Given the description of an element on the screen output the (x, y) to click on. 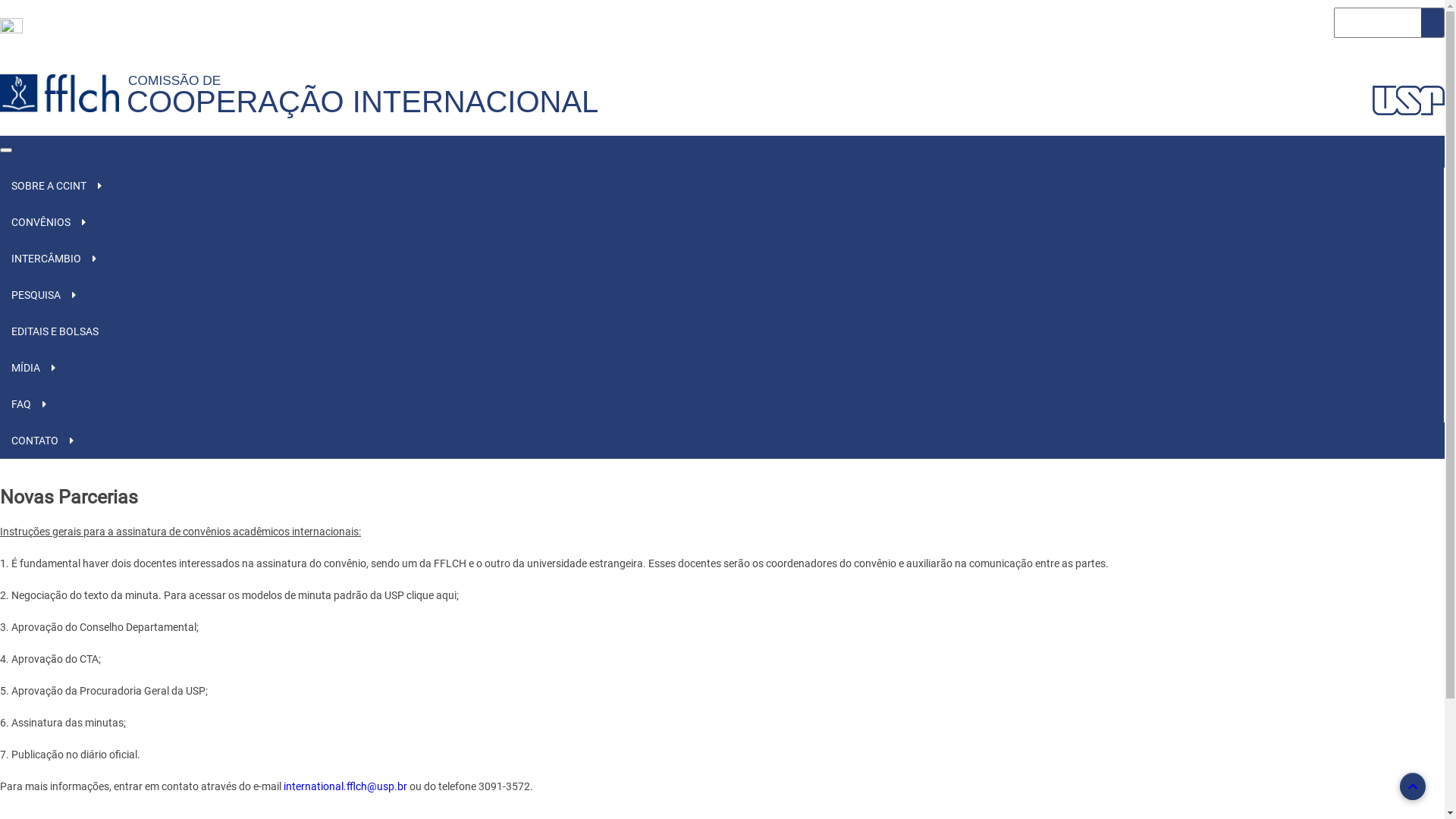
international.fflch@usp.br Element type: text (345, 786)
Buscar Element type: text (1432, 22)
SOBRE A CCINT Element type: text (48, 185)
PESQUISA Element type: text (36, 294)
CONTATO Element type: text (34, 440)
EDITAIS E BOLSAS Element type: text (721, 331)
FAQ Element type: text (21, 403)
Back to Top Element type: hover (1412, 786)
